Given the description of an element on the screen output the (x, y) to click on. 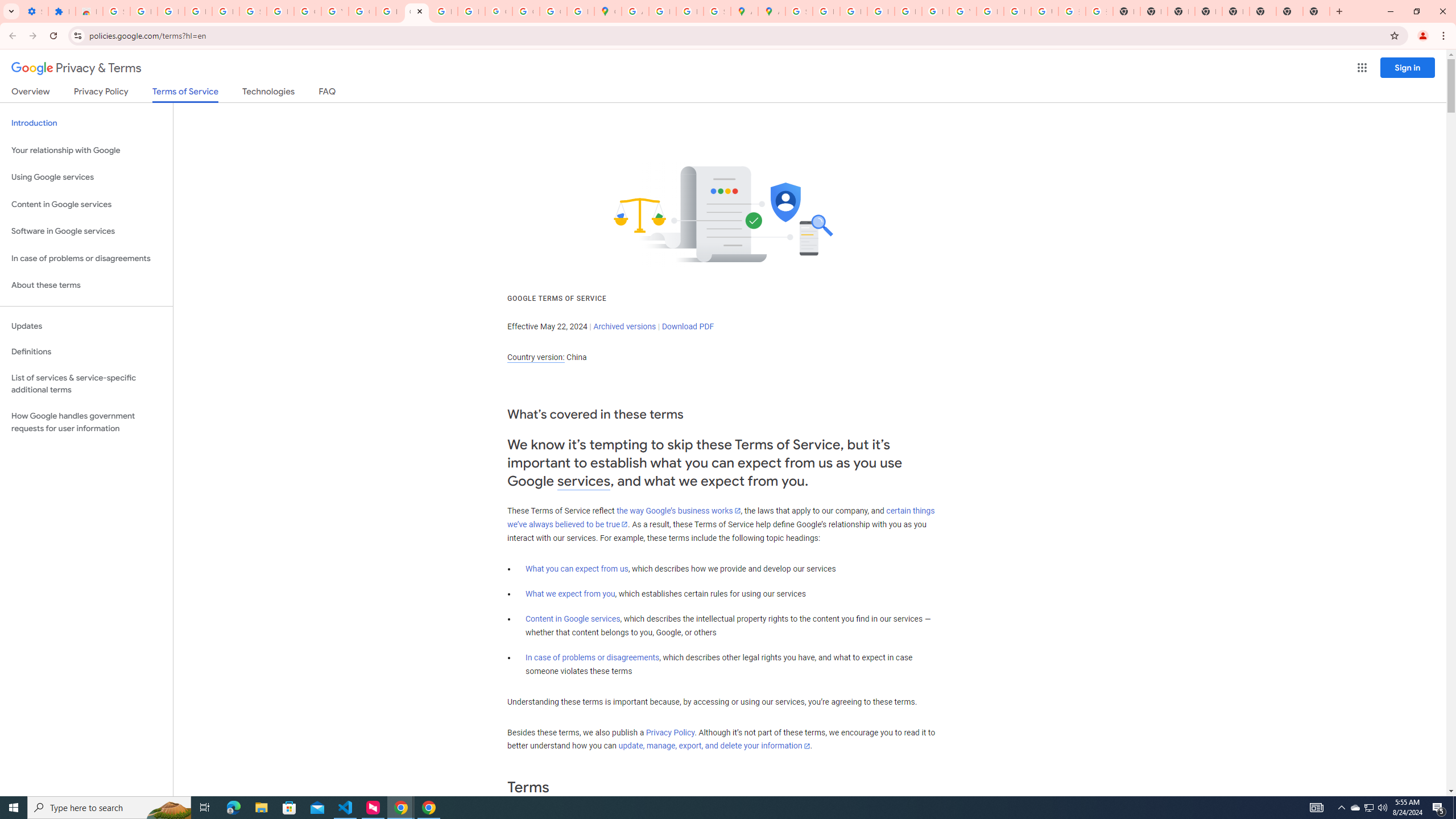
Content in Google services (572, 618)
Using Google services (86, 176)
Sign in - Google Accounts (116, 11)
